Given the description of an element on the screen output the (x, y) to click on. 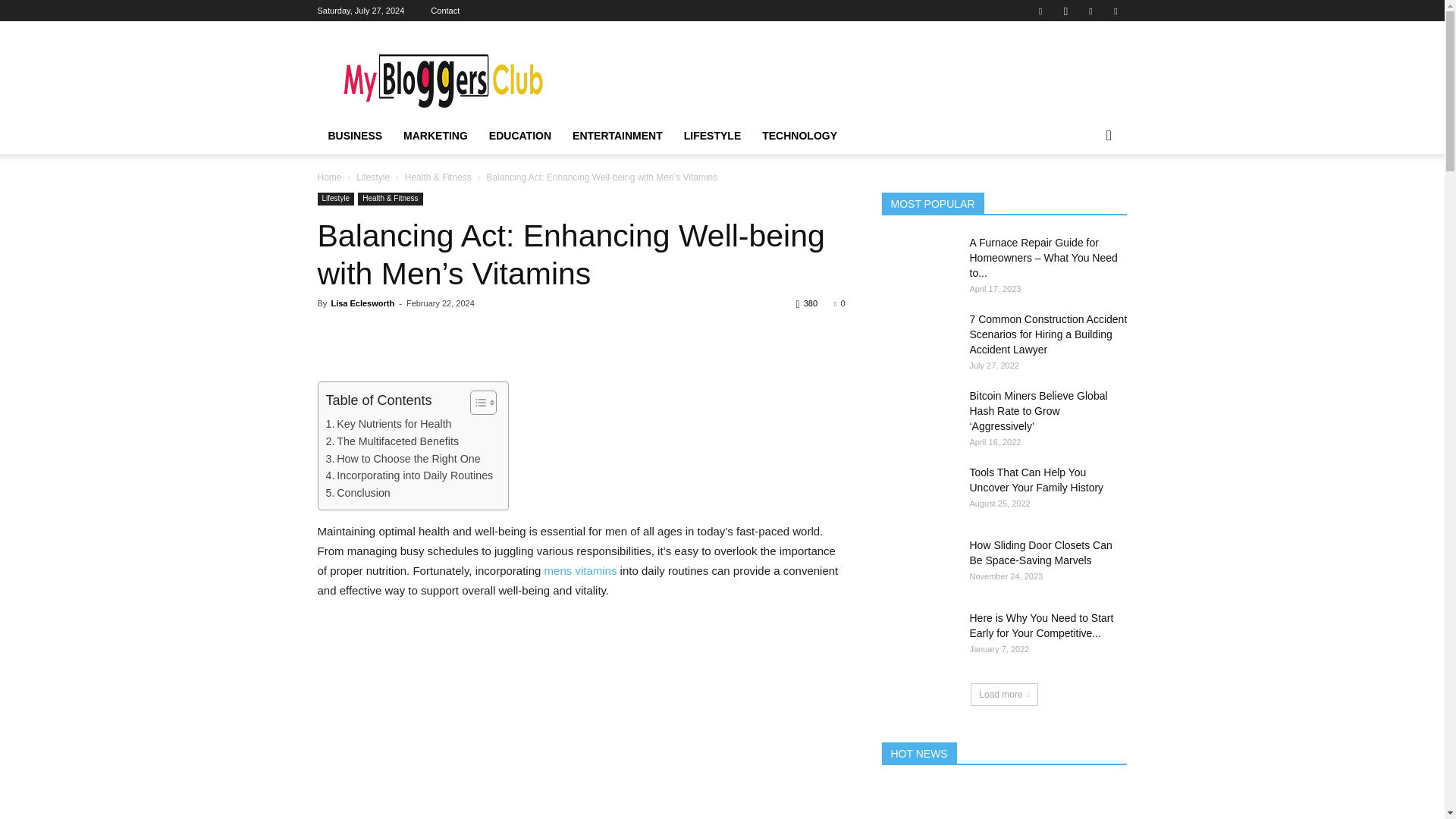
The Multifaceted Benefits (393, 441)
Pinterest (1090, 10)
Twitter (1114, 10)
Instagram (1065, 10)
Facebook (1040, 10)
Key Nutrients for Health (388, 424)
MyBloggerClub.com Logo (445, 76)
How to Choose the Right One (403, 458)
View all posts in Lifestyle (373, 176)
